Given the description of an element on the screen output the (x, y) to click on. 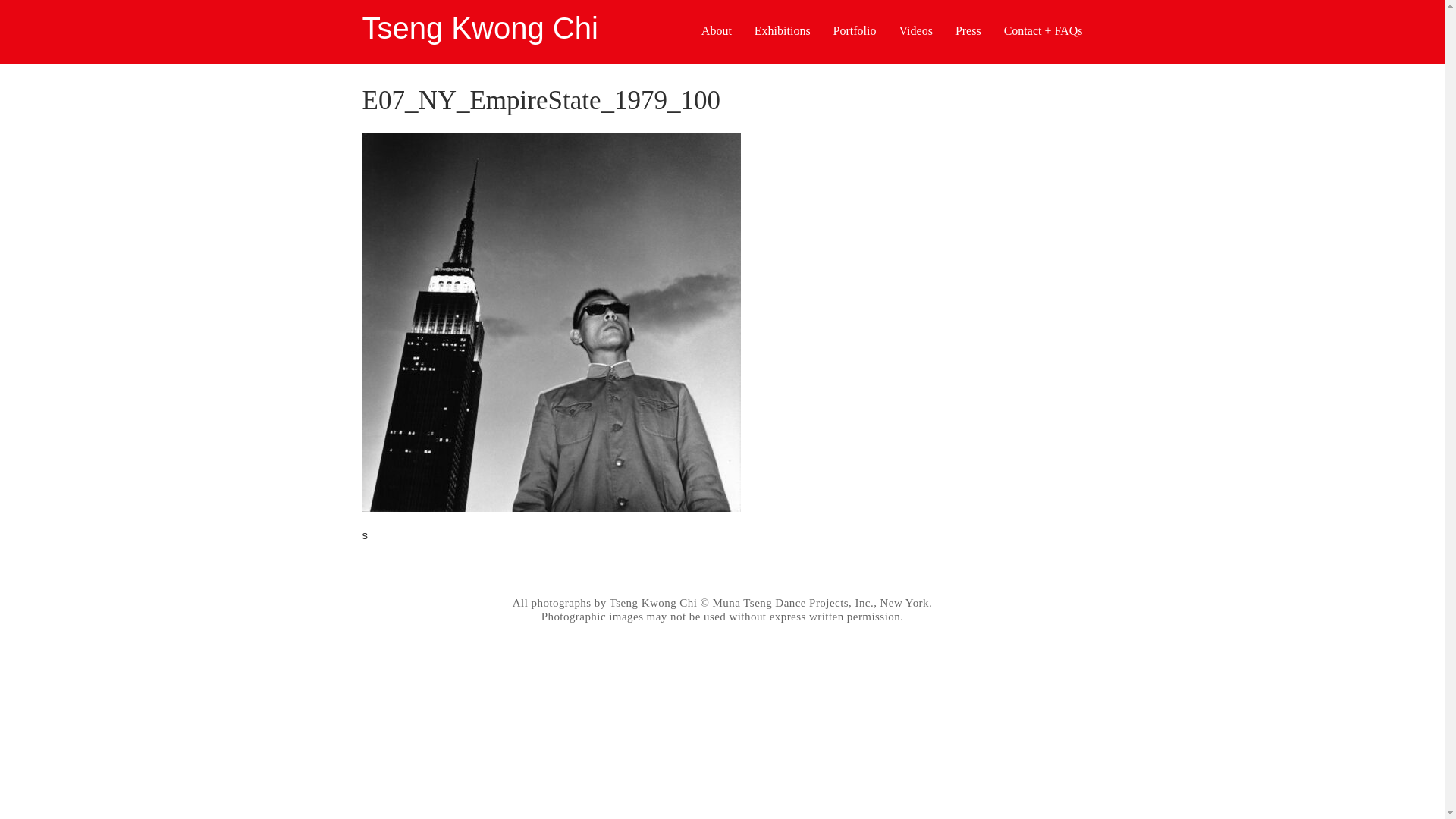
Exhibitions (782, 32)
Tseng Kwong Chi (480, 28)
Videos (916, 32)
About (716, 32)
Press (968, 32)
Portfolio (854, 32)
